Given the description of an element on the screen output the (x, y) to click on. 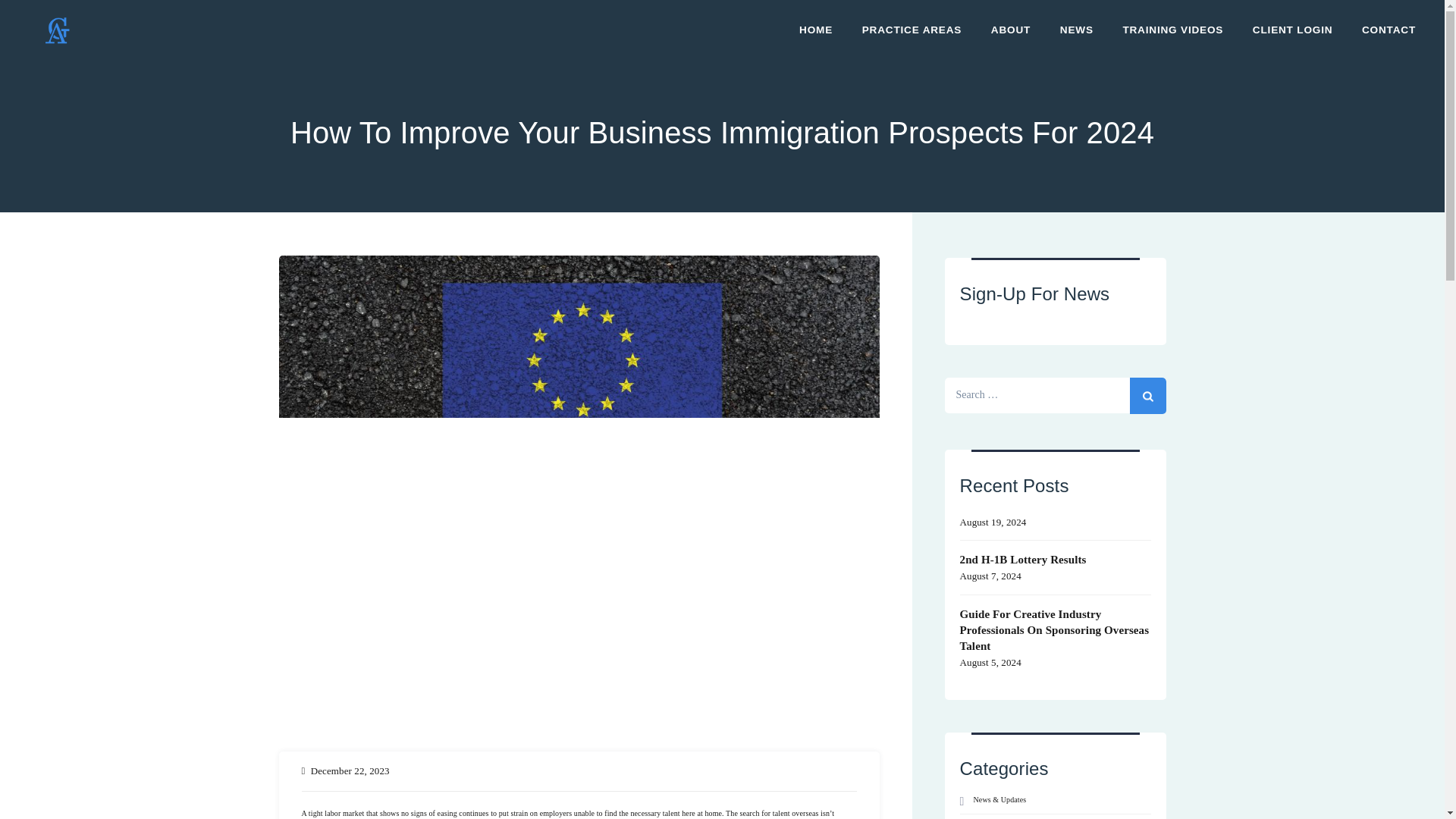
2nd H-1B Lottery Results (1055, 557)
Search (1147, 395)
Search (1147, 395)
TRAINING VIDEOS (1172, 30)
CLIENT LOGIN (1292, 30)
HOME (815, 30)
CONTACT (1388, 30)
Search (1147, 395)
ABOUT (1009, 30)
